Given the description of an element on the screen output the (x, y) to click on. 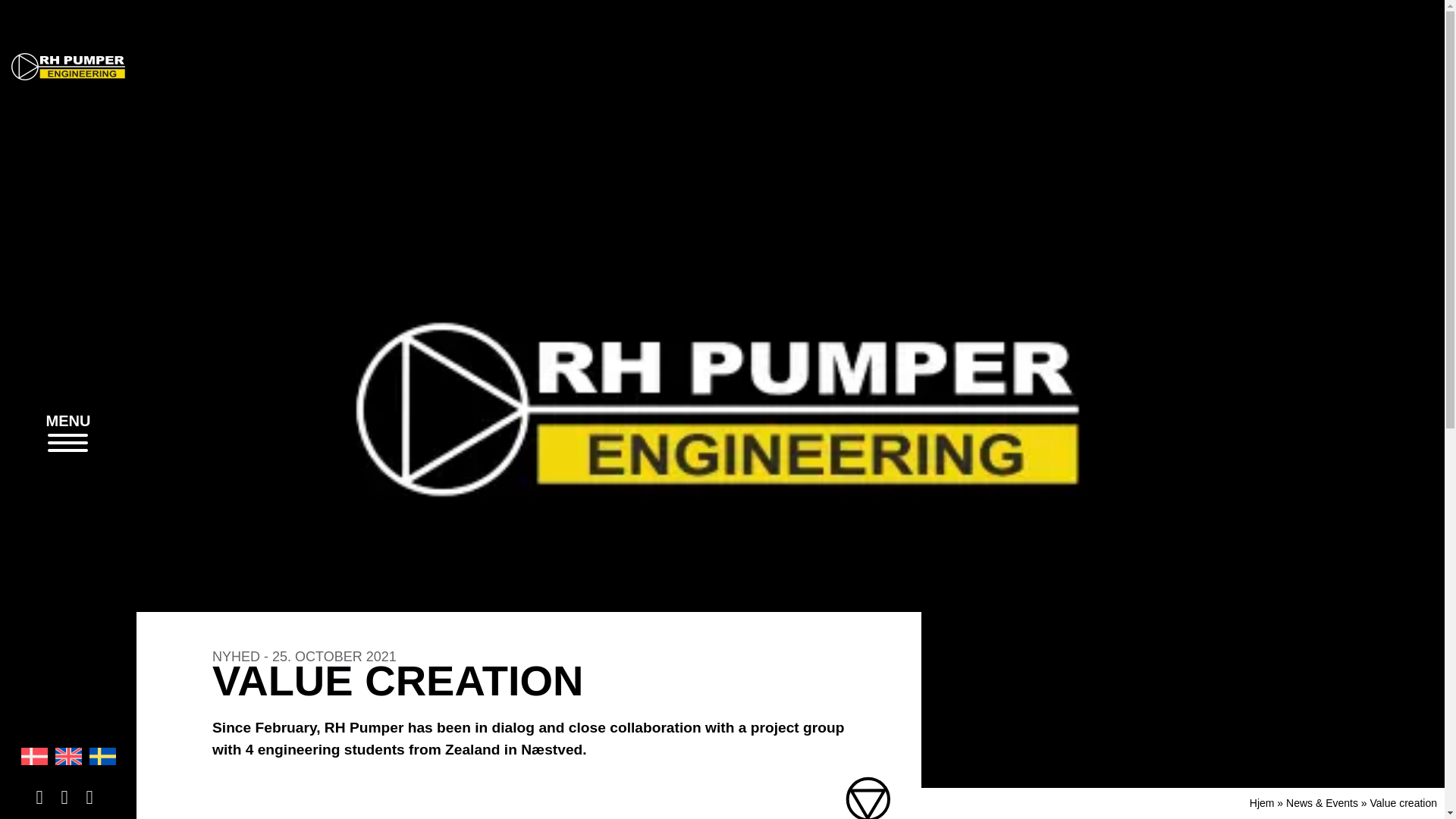
MENU (68, 431)
MENU (68, 433)
Hjem (1262, 802)
